Given the description of an element on the screen output the (x, y) to click on. 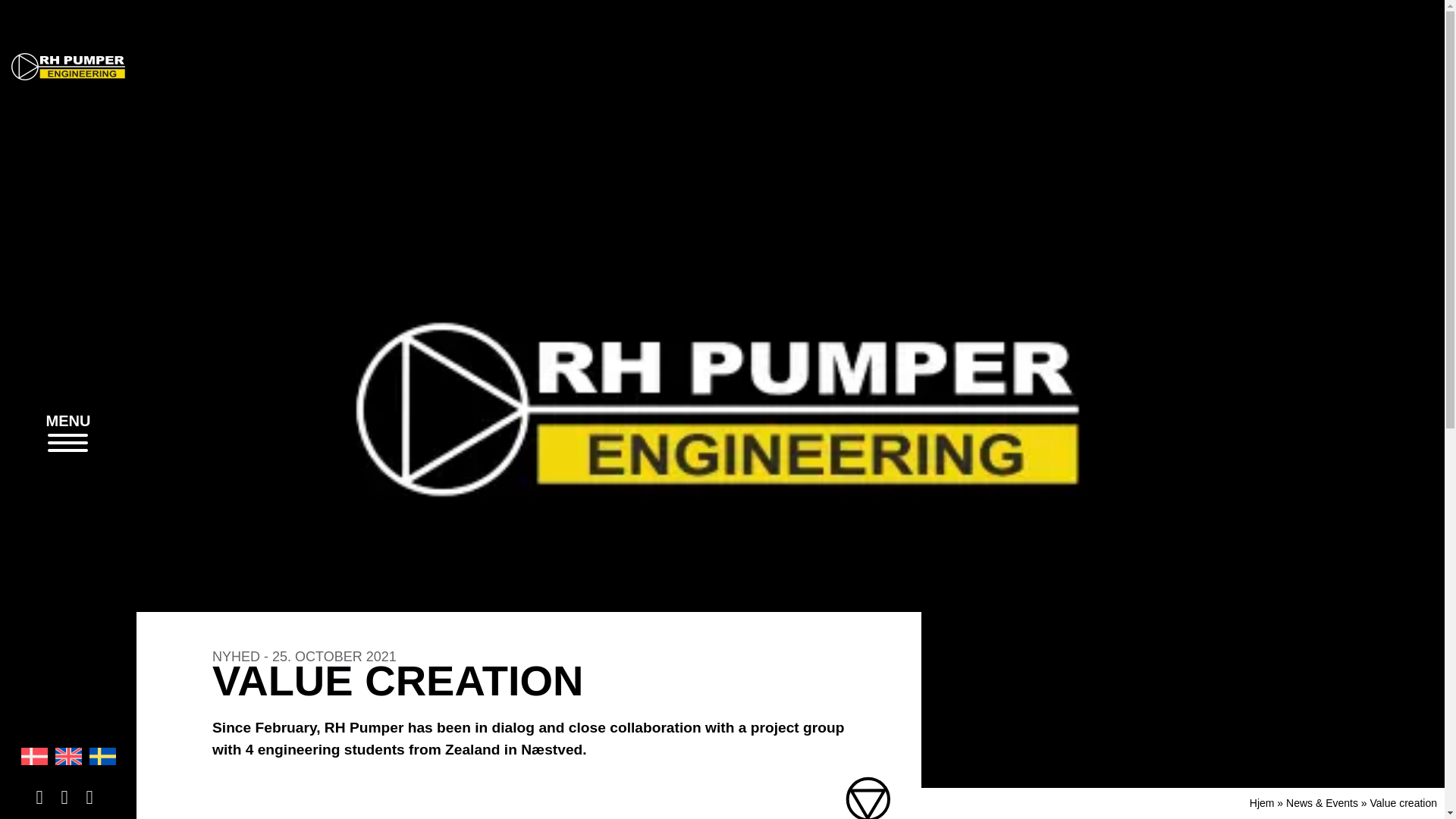
MENU (68, 431)
MENU (68, 433)
Hjem (1262, 802)
